Given the description of an element on the screen output the (x, y) to click on. 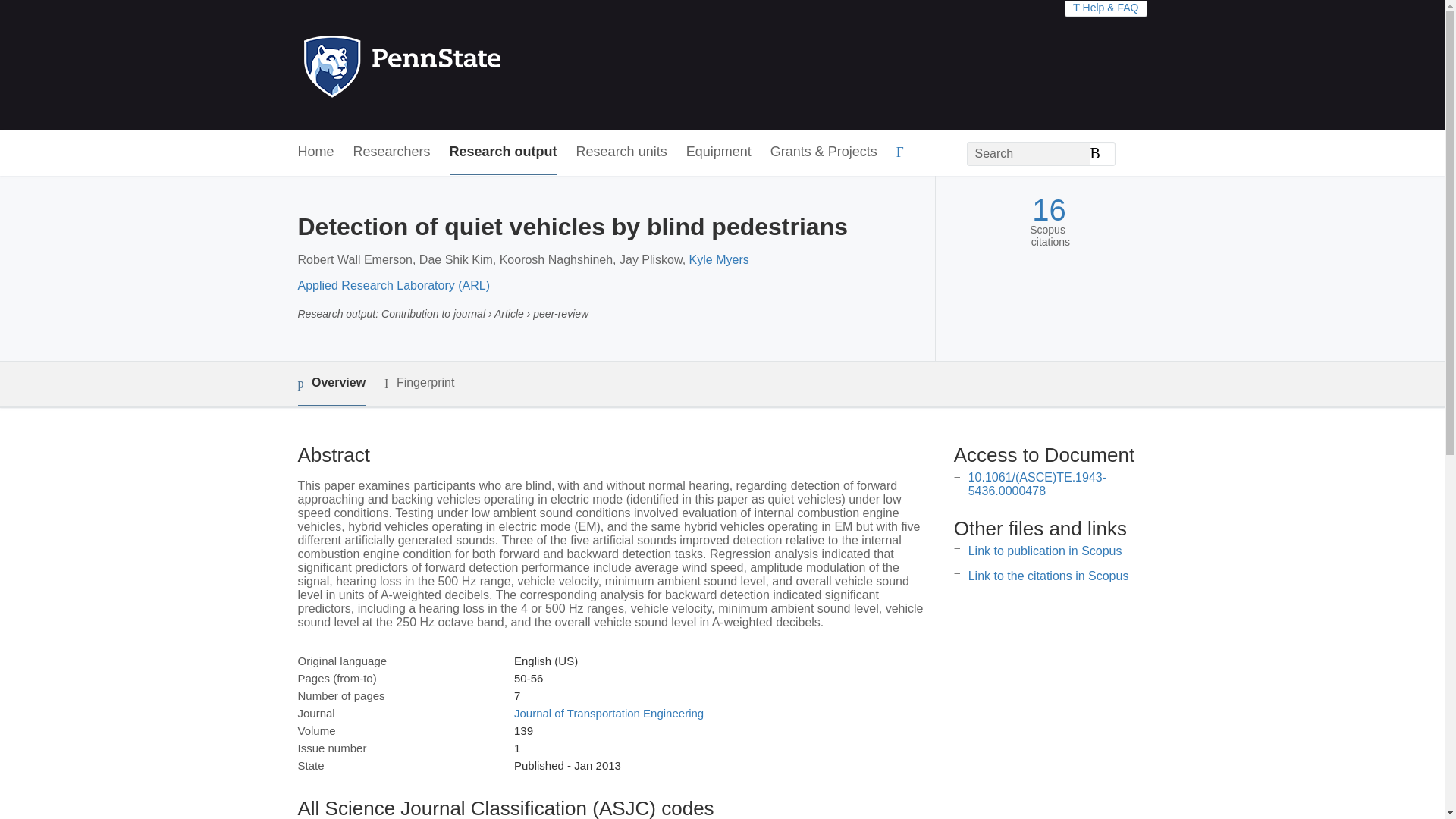
Fingerprint (419, 382)
Research units (621, 152)
Penn State Home (467, 65)
Equipment (718, 152)
Kyle Myers (718, 259)
Link to publication in Scopus (1045, 550)
Researchers (391, 152)
Overview (331, 383)
Research output (503, 152)
